Given the description of an element on the screen output the (x, y) to click on. 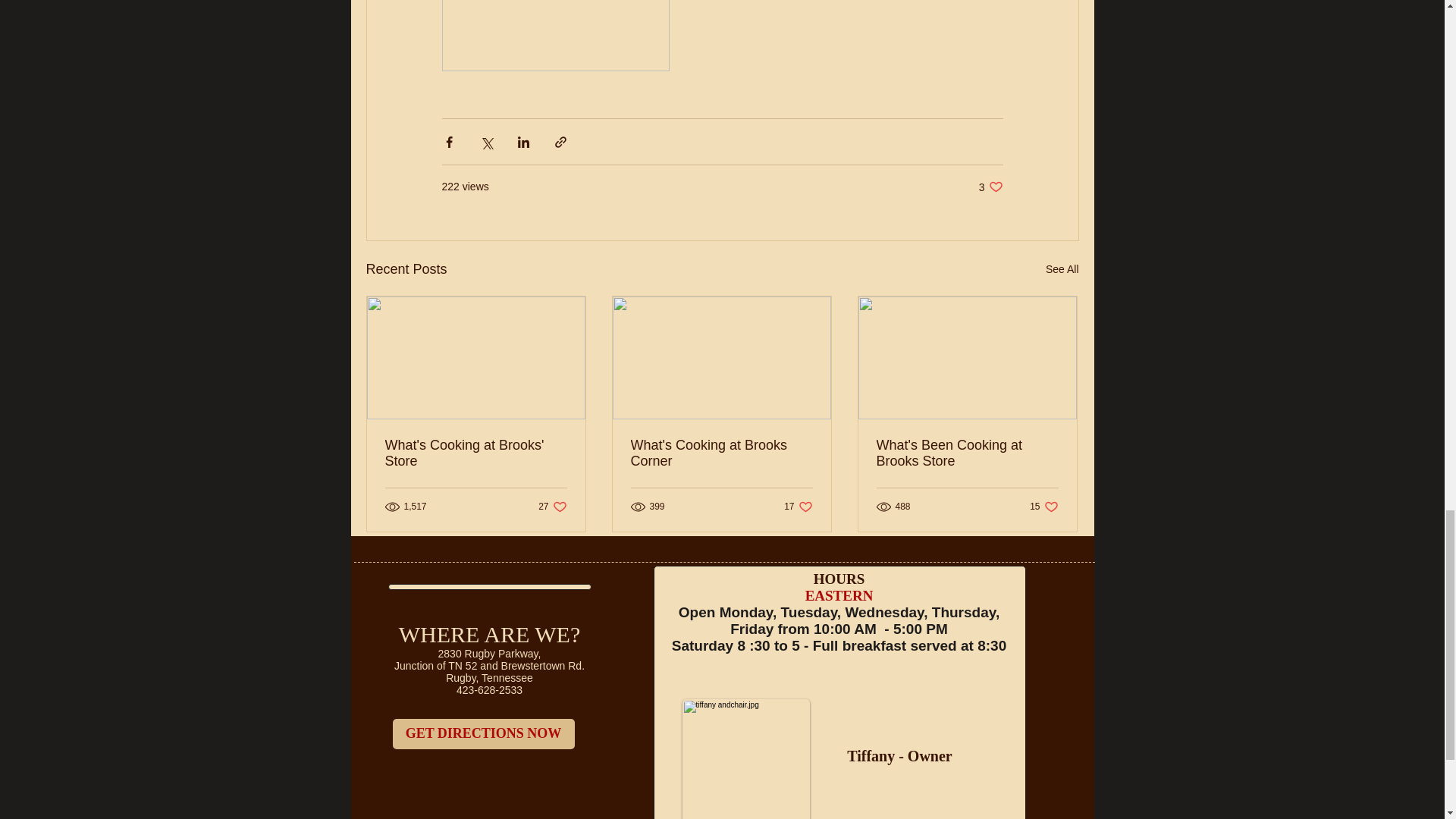
What's Been Cooking at Brooks Store (967, 453)
What's Cooking at Brooks Corner (721, 453)
GET DIRECTIONS NOW (552, 505)
What's Cooking at Brooks' Store (1043, 505)
See All (798, 505)
